Given the description of an element on the screen output the (x, y) to click on. 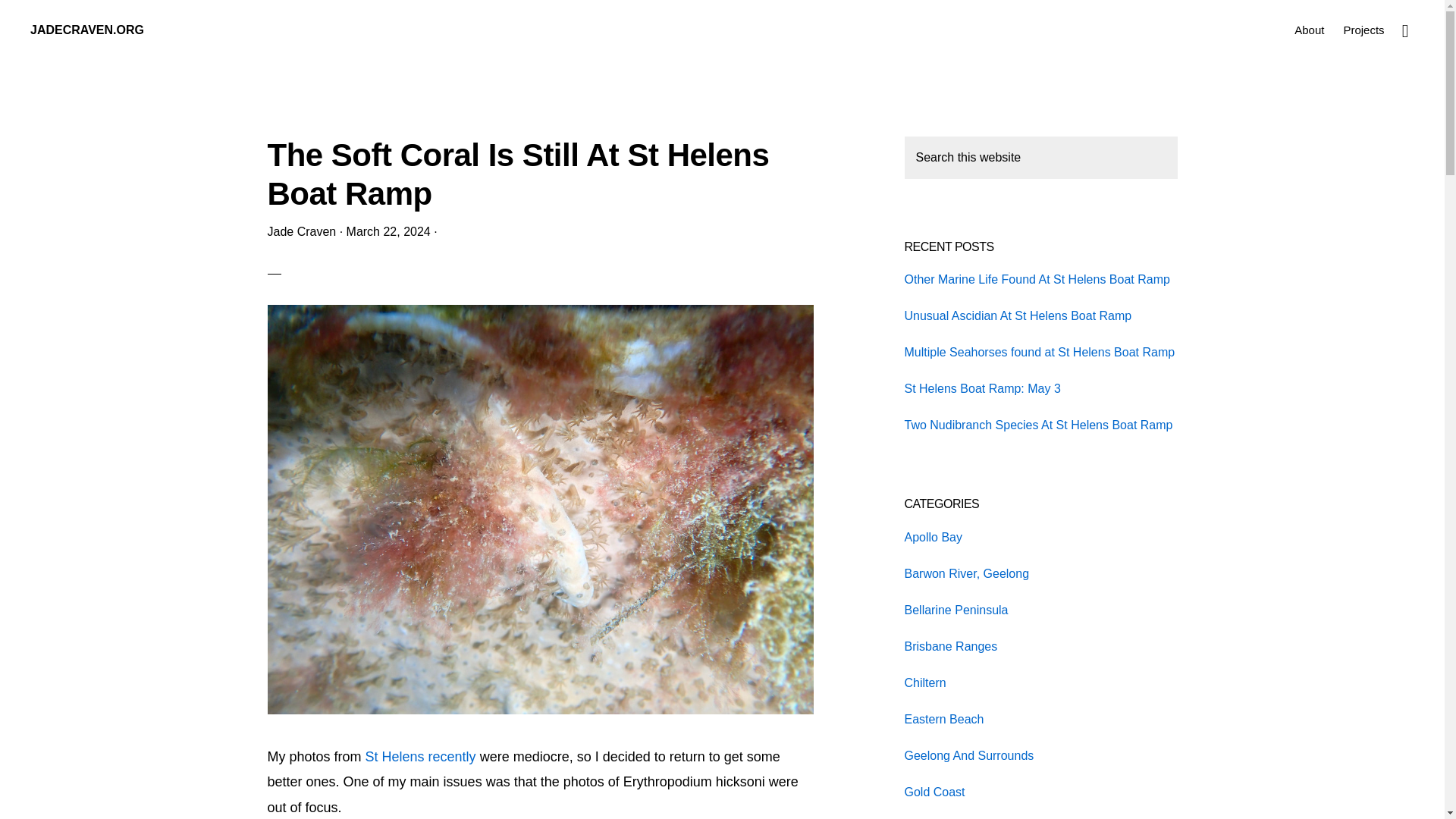
Barwon River, Geelong (966, 573)
Unusual Ascidian At St Helens Boat Ramp (1017, 315)
Projects (1363, 29)
Jade Craven (301, 231)
St Helens Boat Ramp: May 3 (981, 388)
Bellarine Peninsula (955, 609)
Multiple Seahorses found at St Helens Boat Ramp (1039, 351)
Two Nudibranch Species At St Helens Boat Ramp (1038, 424)
